Given the description of an element on the screen output the (x, y) to click on. 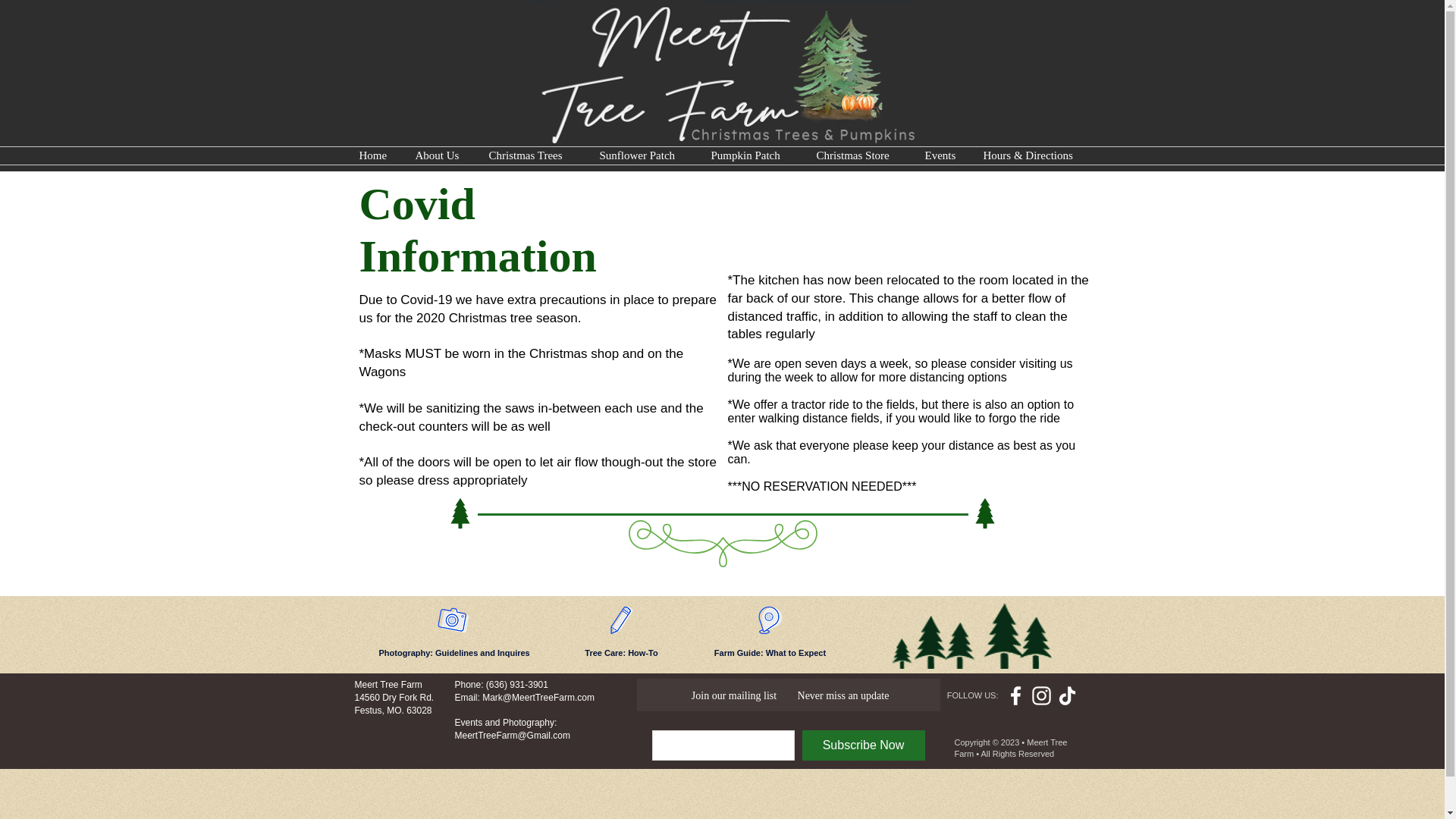
Tree Care: How-To (620, 653)
Christmas Trees (532, 155)
Christmas Store (859, 155)
Subscribe Now (863, 745)
Pumpkin Patch (751, 155)
Events (941, 155)
About Us (440, 155)
Photography: Guidelines and Inquires (453, 653)
Home (375, 155)
Sunflower Patch (644, 155)
